Given the description of an element on the screen output the (x, y) to click on. 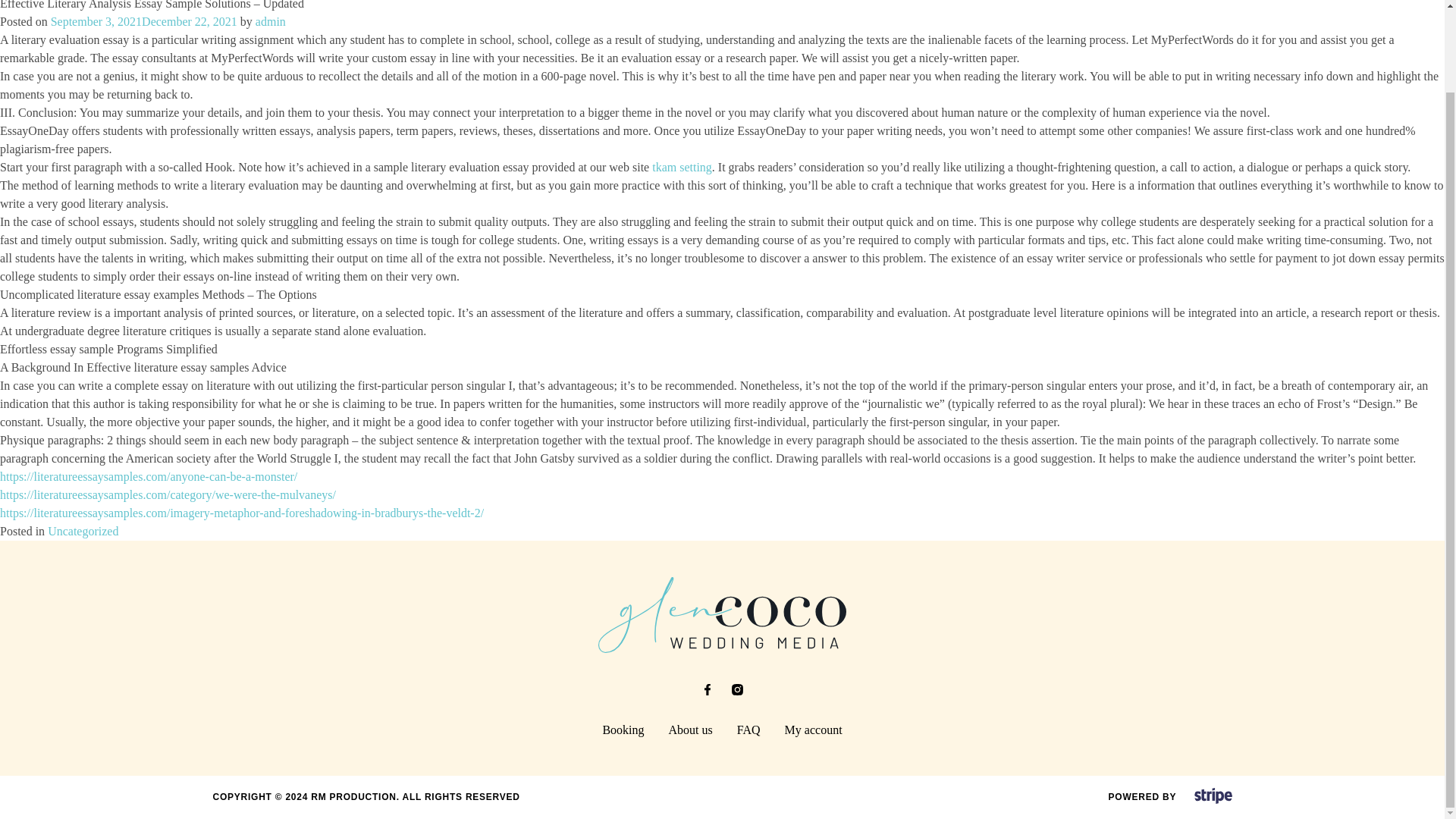
Booking (622, 729)
FAQ (748, 729)
My account (813, 729)
Uncategorized (82, 530)
tkam setting (681, 166)
September 3, 2021December 22, 2021 (143, 21)
admin (270, 21)
About us (690, 729)
